Given the description of an element on the screen output the (x, y) to click on. 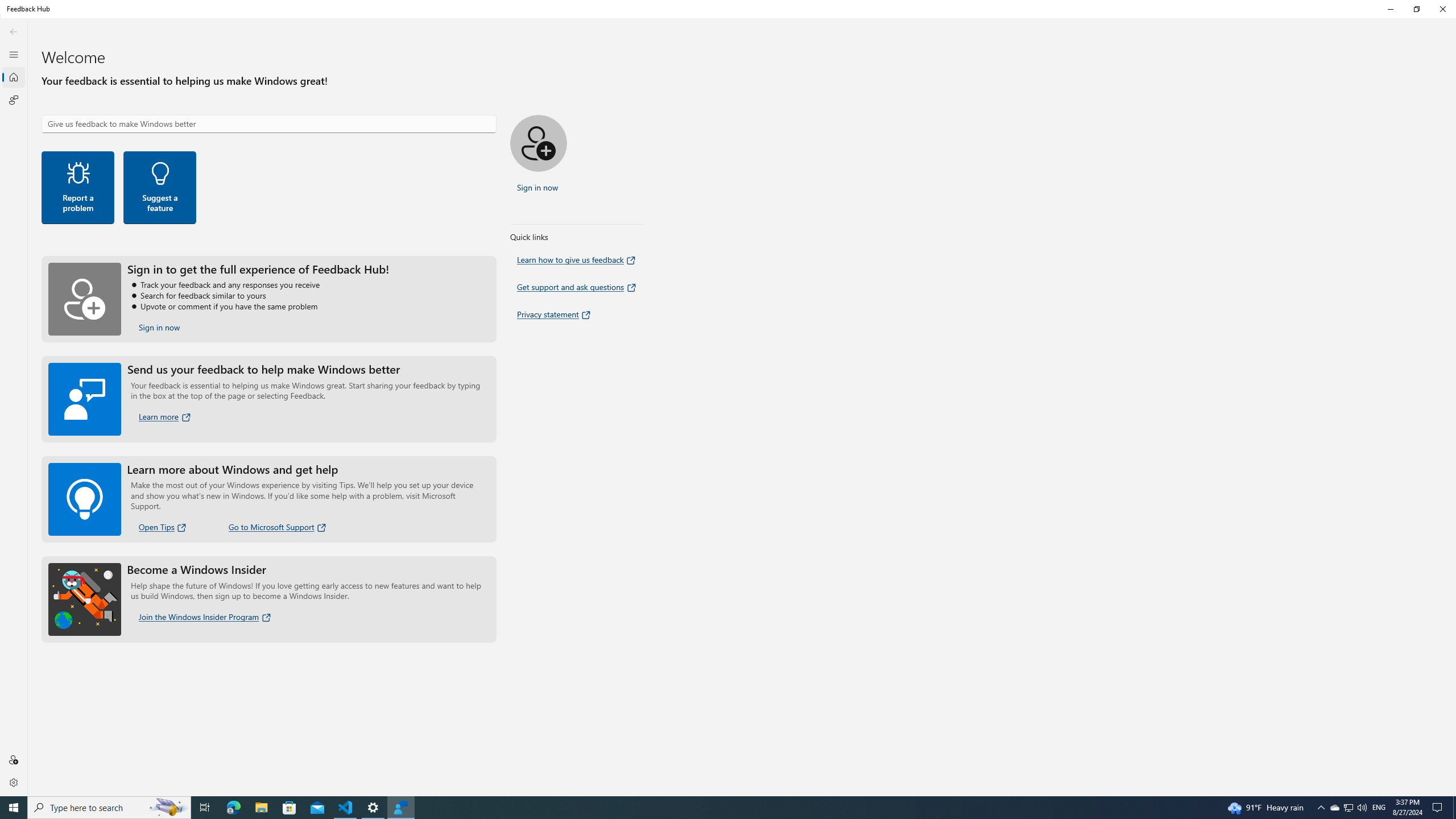
Show desktop (1454, 807)
Sign in now (159, 327)
Open Navigation (13, 54)
Join the Windows Insider Program (205, 616)
Feedback (13, 100)
File Explorer (261, 807)
User Promoted Notification Area (1347, 807)
Minimize Feedback Hub (1390, 9)
Task View (204, 807)
Learn how to give us feedback (576, 259)
Start (13, 807)
Feedback Hub - 1 running window (400, 807)
Privacy statement (553, 314)
Vertical Small Decrease (1452, 21)
